Given the description of an element on the screen output the (x, y) to click on. 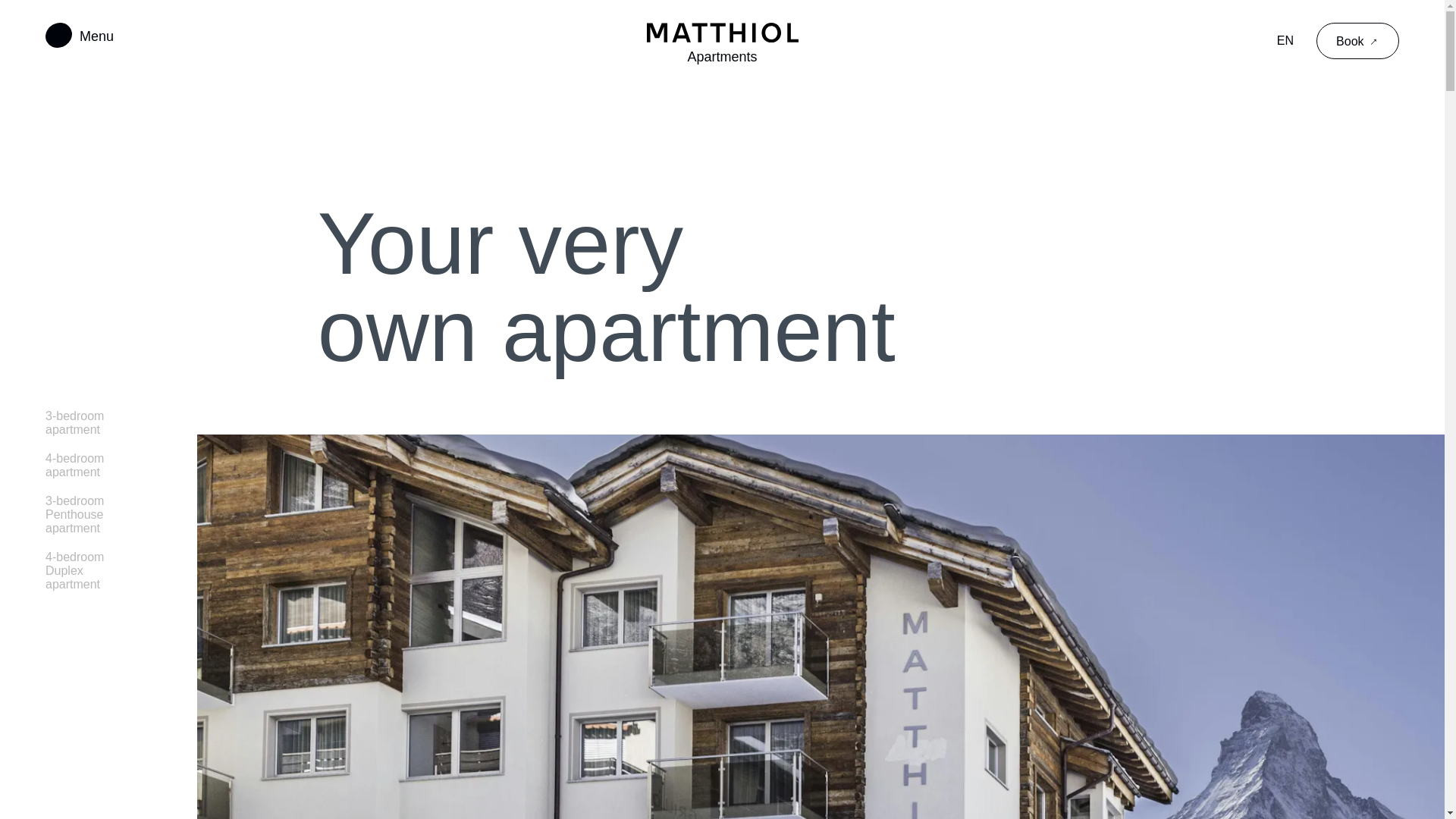
3-bedroom apartment (87, 422)
4-bedroom Duplex apartment (87, 570)
3-bedroom Penthouse apartment (87, 514)
Menu (79, 35)
4-bedroom apartment (87, 465)
